Given the description of an element on the screen output the (x, y) to click on. 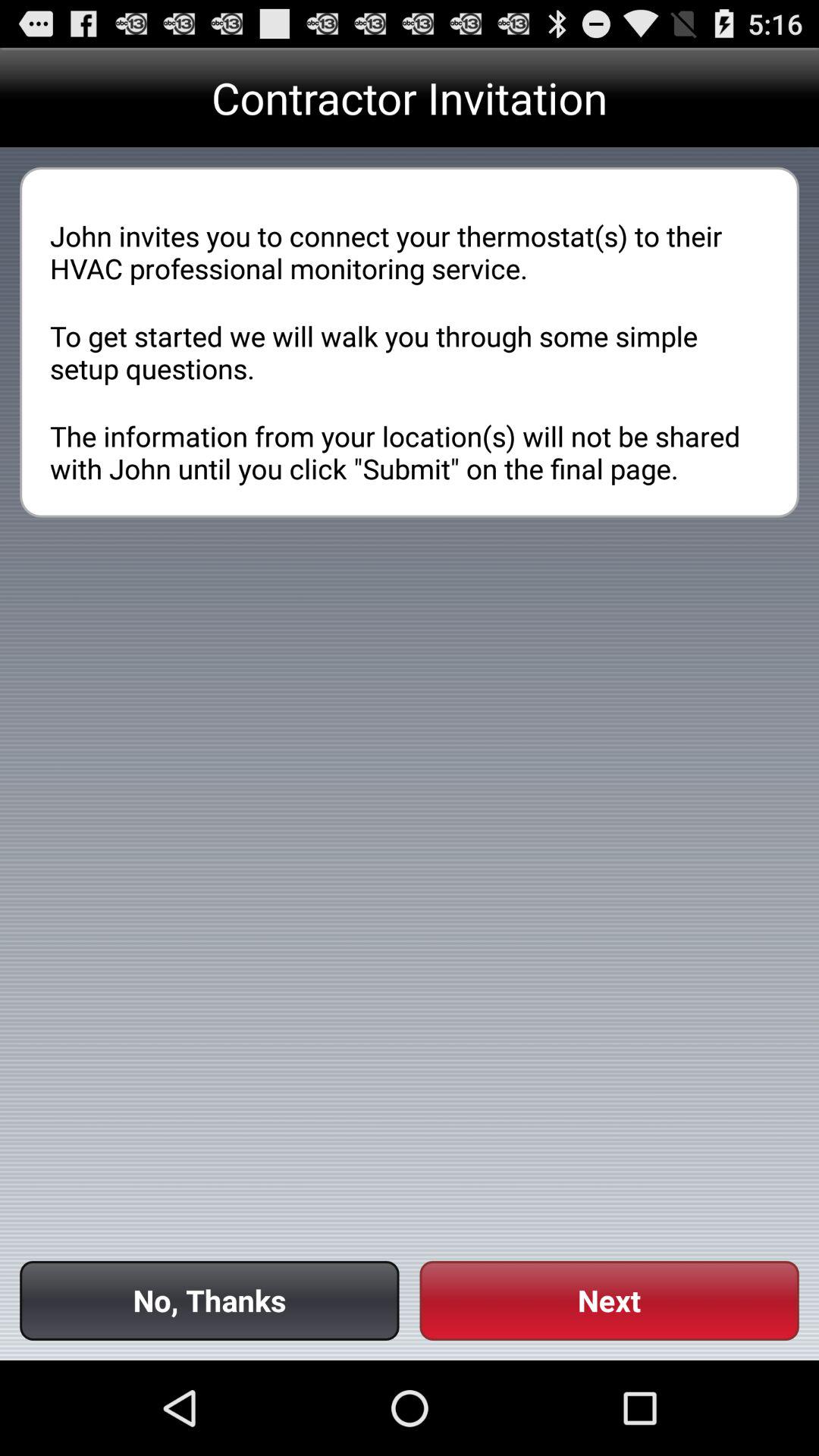
choose no, thanks at the bottom left corner (209, 1300)
